Given the description of an element on the screen output the (x, y) to click on. 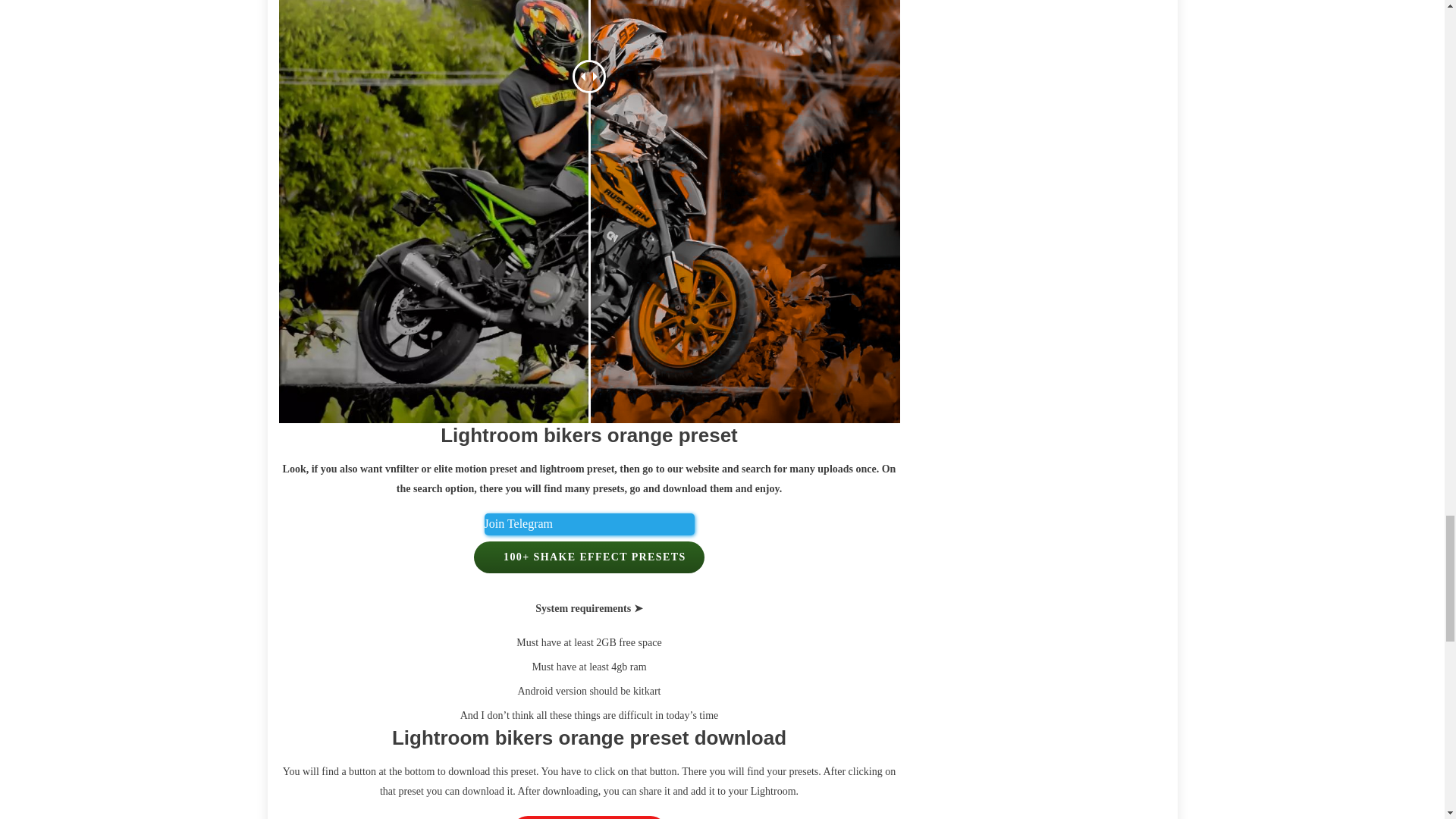
   DOWNLOAD NOW (588, 817)
Our Presets (588, 524)
Join Telegram (588, 524)
